Given the description of an element on the screen output the (x, y) to click on. 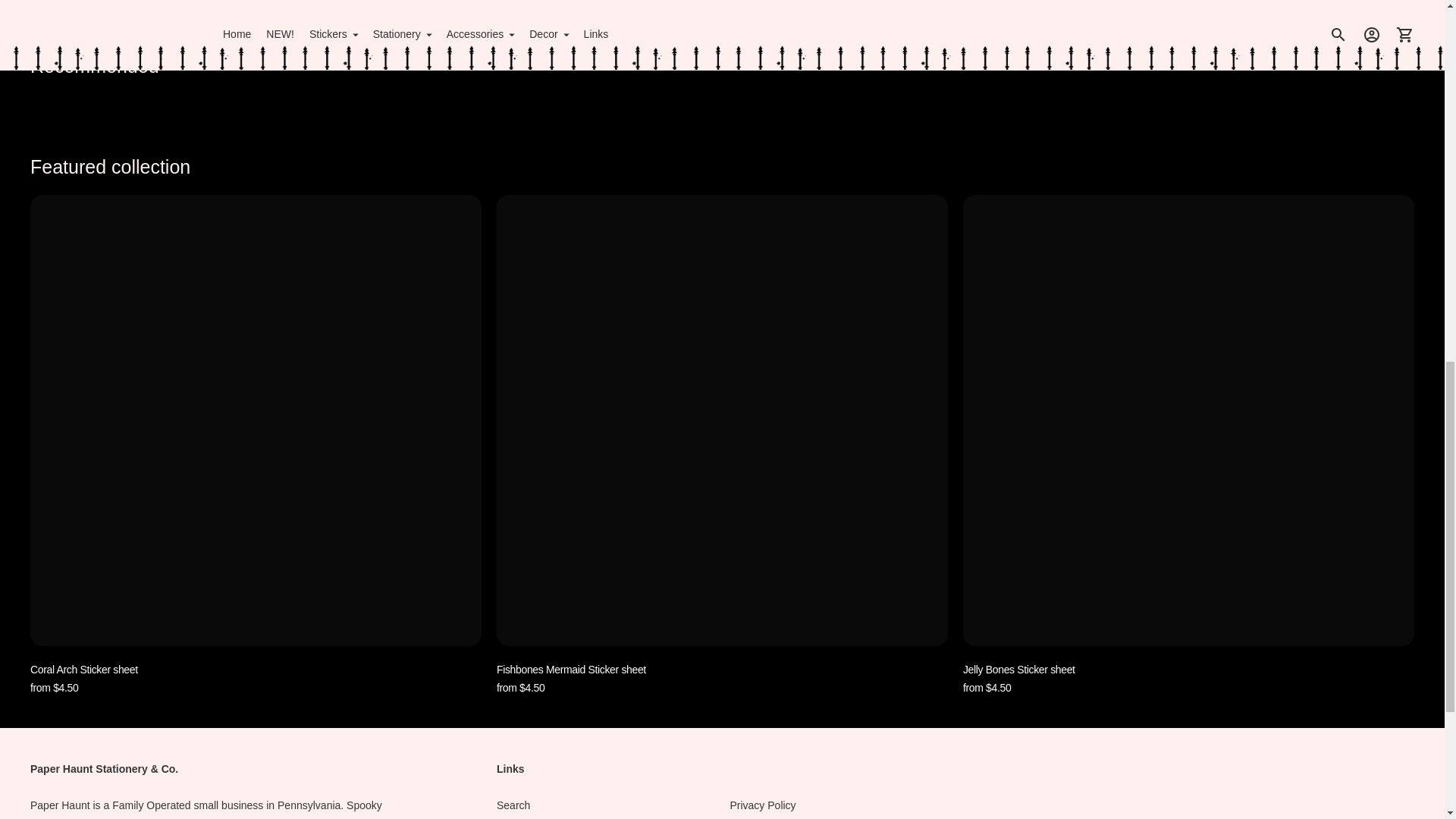
Open Image (723, 4)
Open Image (255, 4)
